Given the description of an element on the screen output the (x, y) to click on. 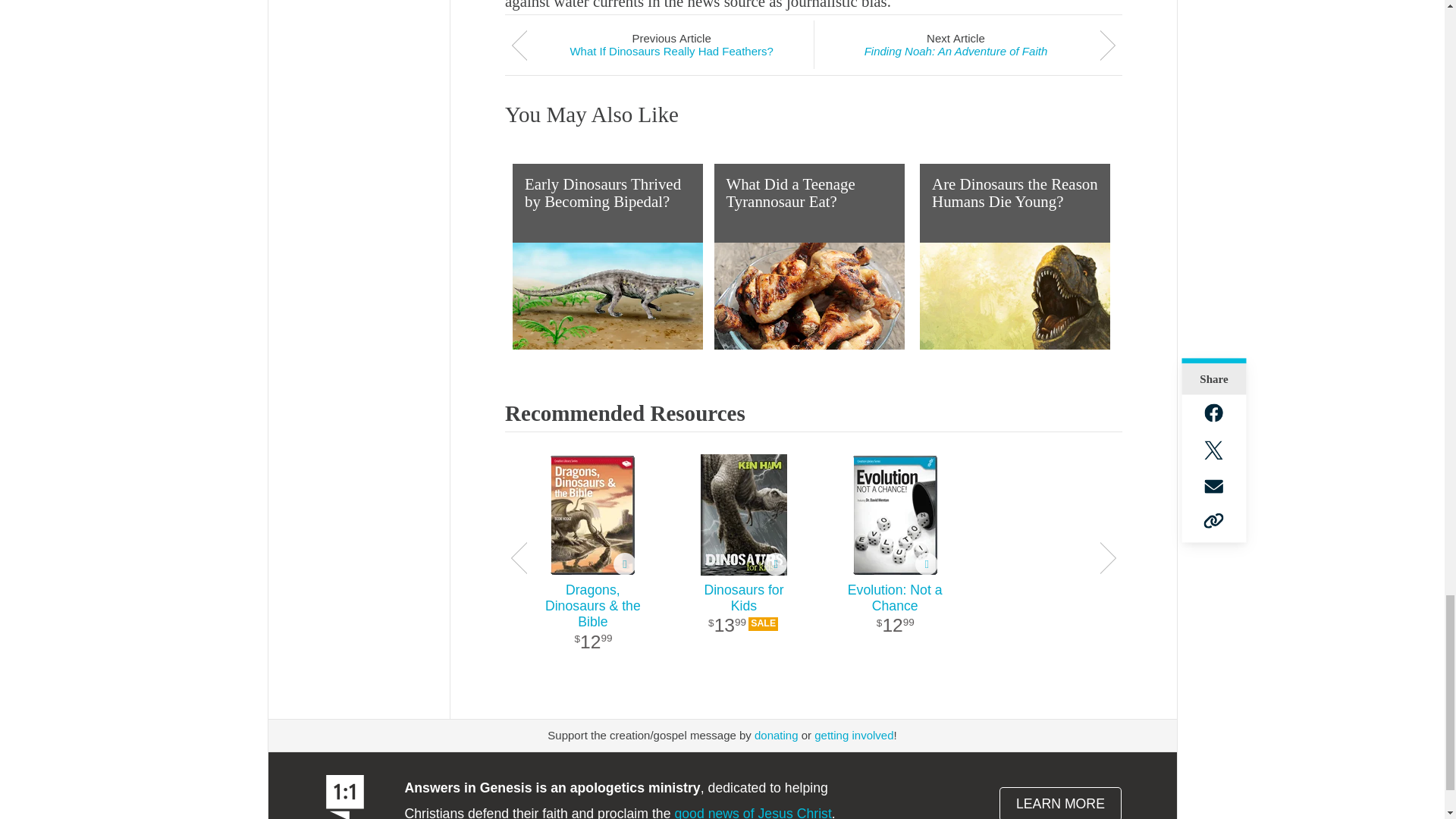
Dinosaurs for Kids (743, 617)
Dinosaurs for Kids (742, 514)
What If Dinosaurs Really Had Feathers? (671, 51)
